Given the description of an element on the screen output the (x, y) to click on. 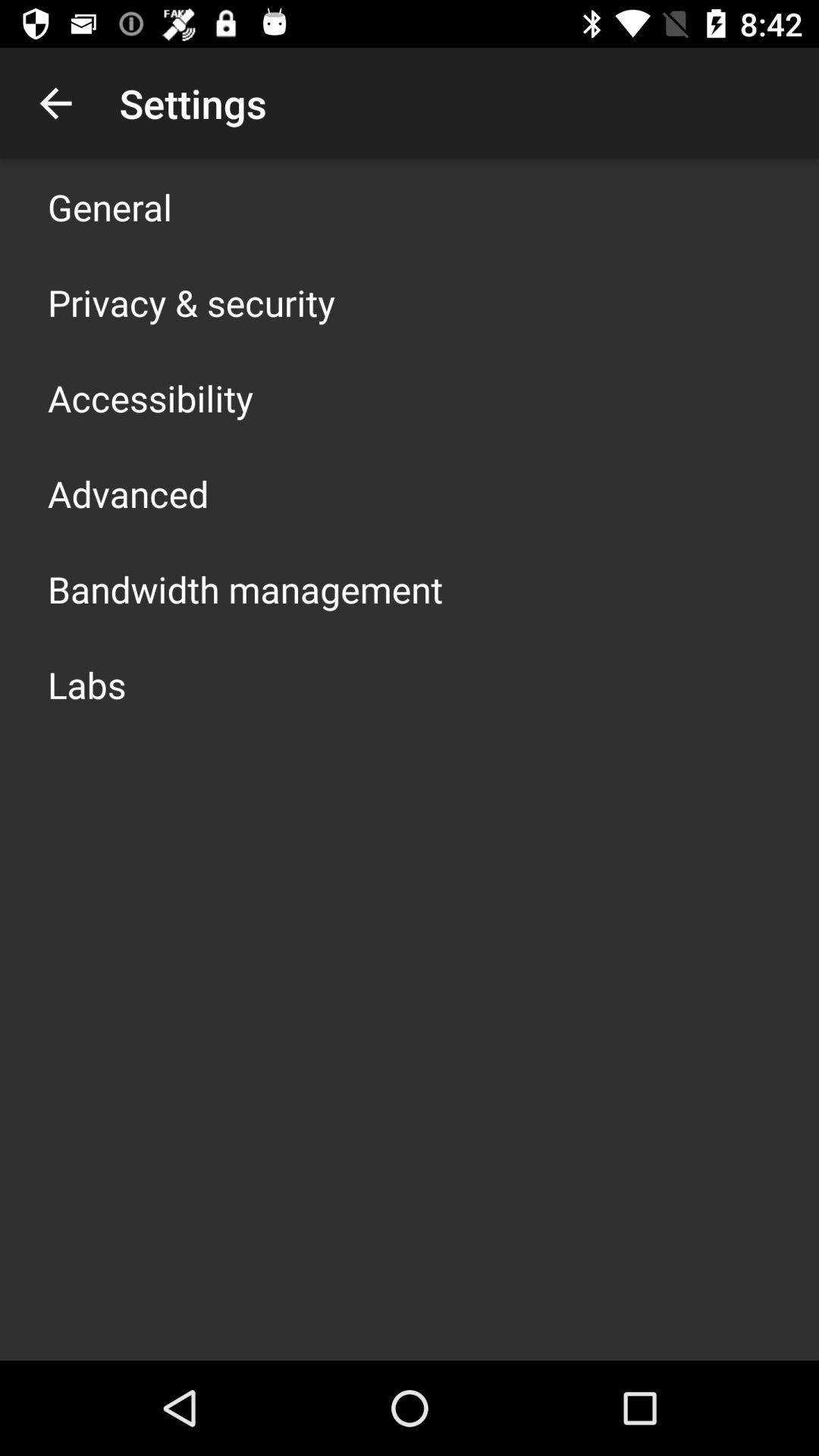
swipe to the privacy & security icon (190, 302)
